Given the description of an element on the screen output the (x, y) to click on. 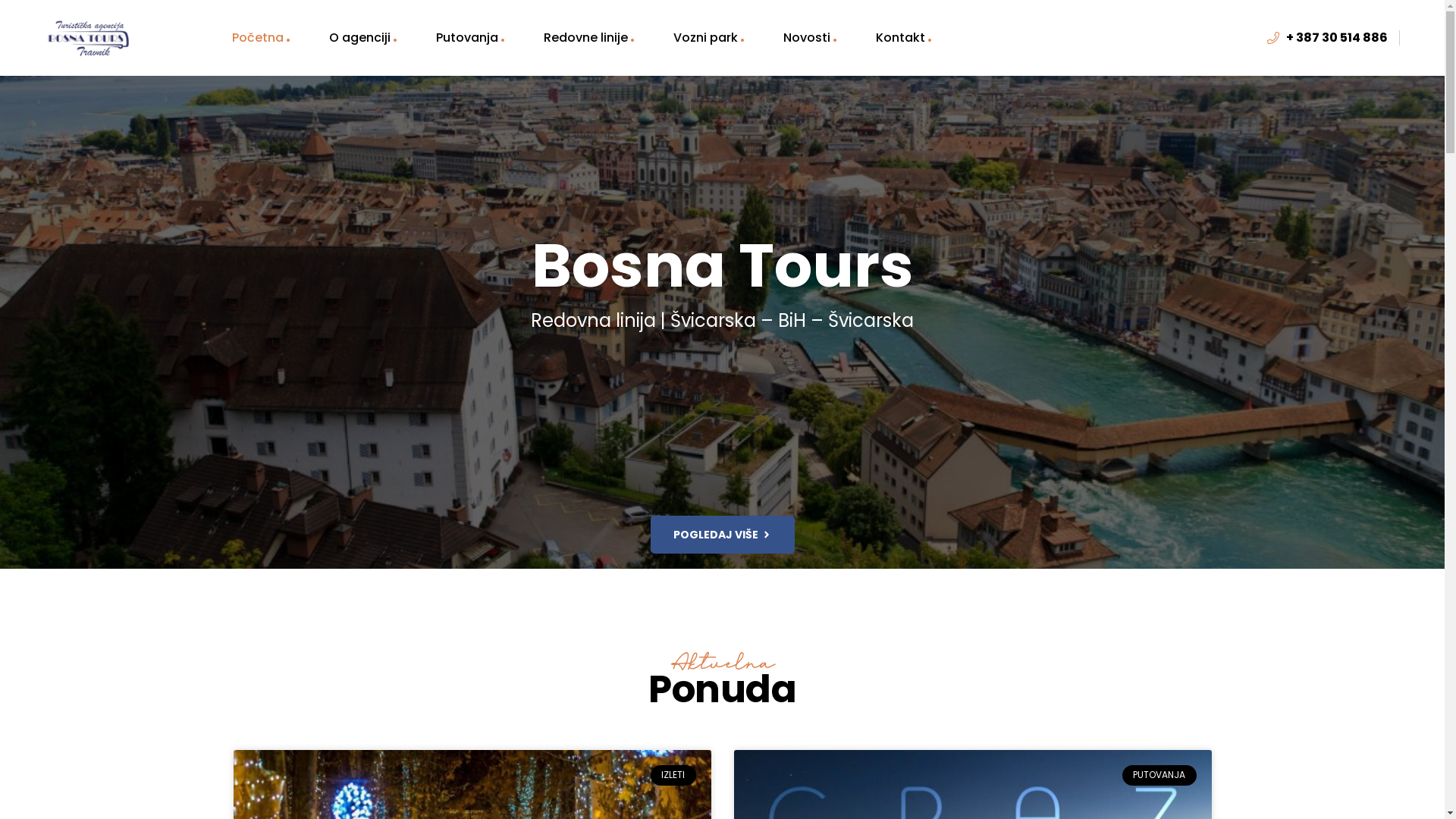
Vozni park Element type: text (708, 37)
Kontakt Element type: text (902, 37)
O agenciji Element type: text (362, 37)
Putovanja Element type: text (469, 37)
Novosti Element type: text (808, 37)
Redovne linije Element type: text (587, 37)
+ 387 30 514 886 Element type: text (1327, 37)
